Given the description of an element on the screen output the (x, y) to click on. 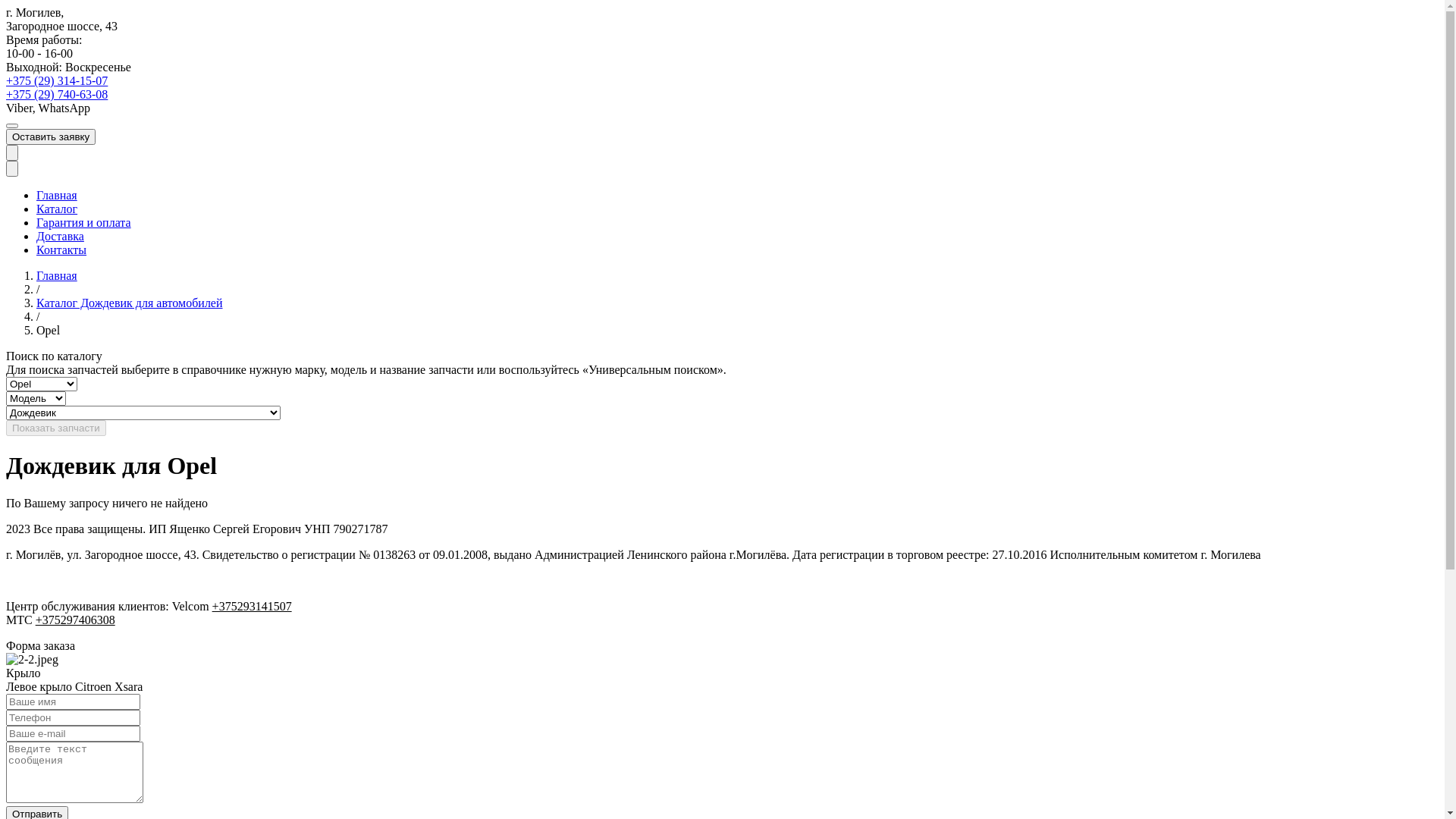
+375293141507 Element type: text (251, 605)
+375 (29) 740-63-08 Element type: text (56, 93)
+375 (29) 314-15-07 Element type: text (56, 80)
+375297406308 Element type: text (75, 619)
